Given the description of an element on the screen output the (x, y) to click on. 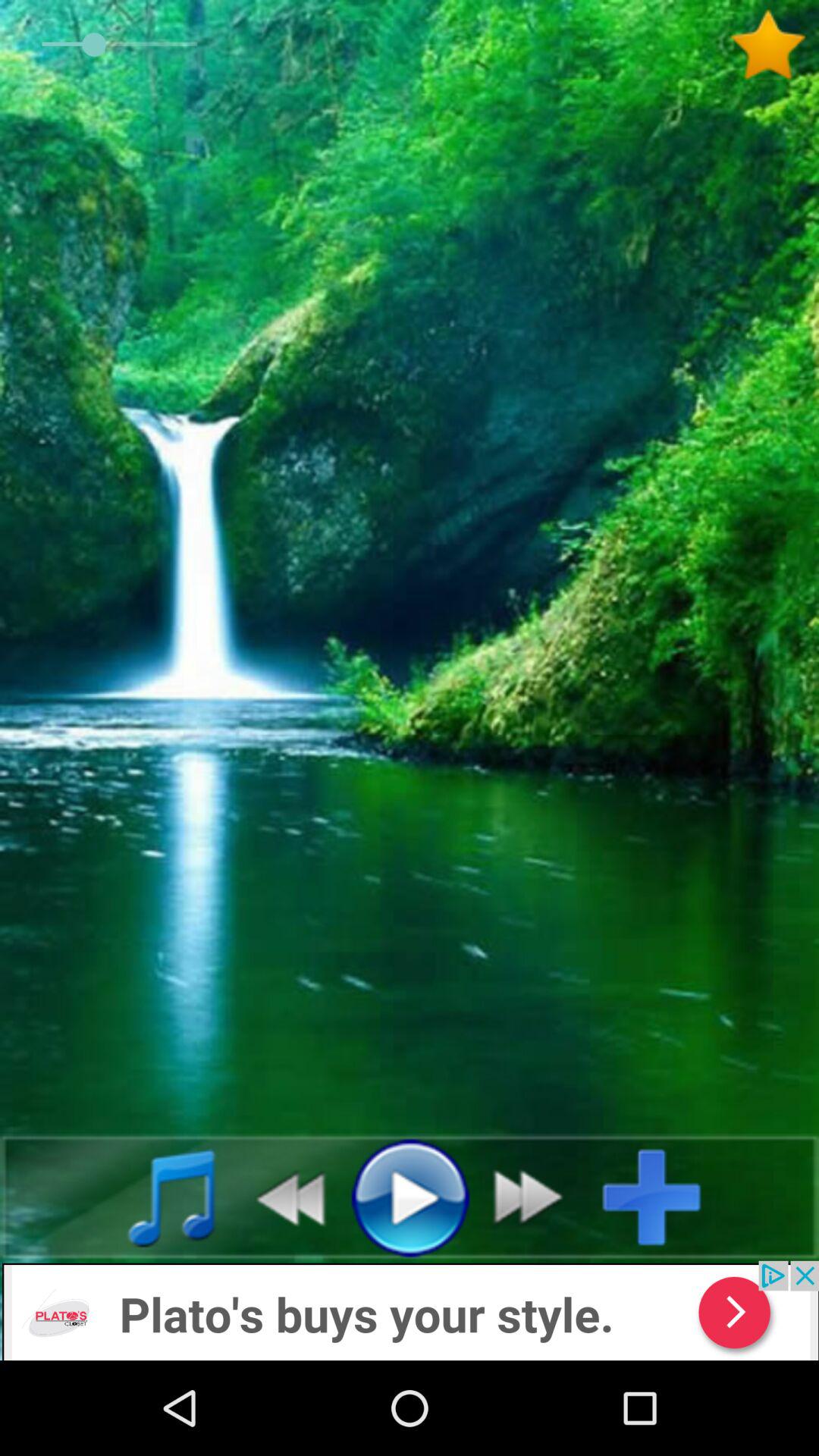
go back (281, 1196)
